Given the description of an element on the screen output the (x, y) to click on. 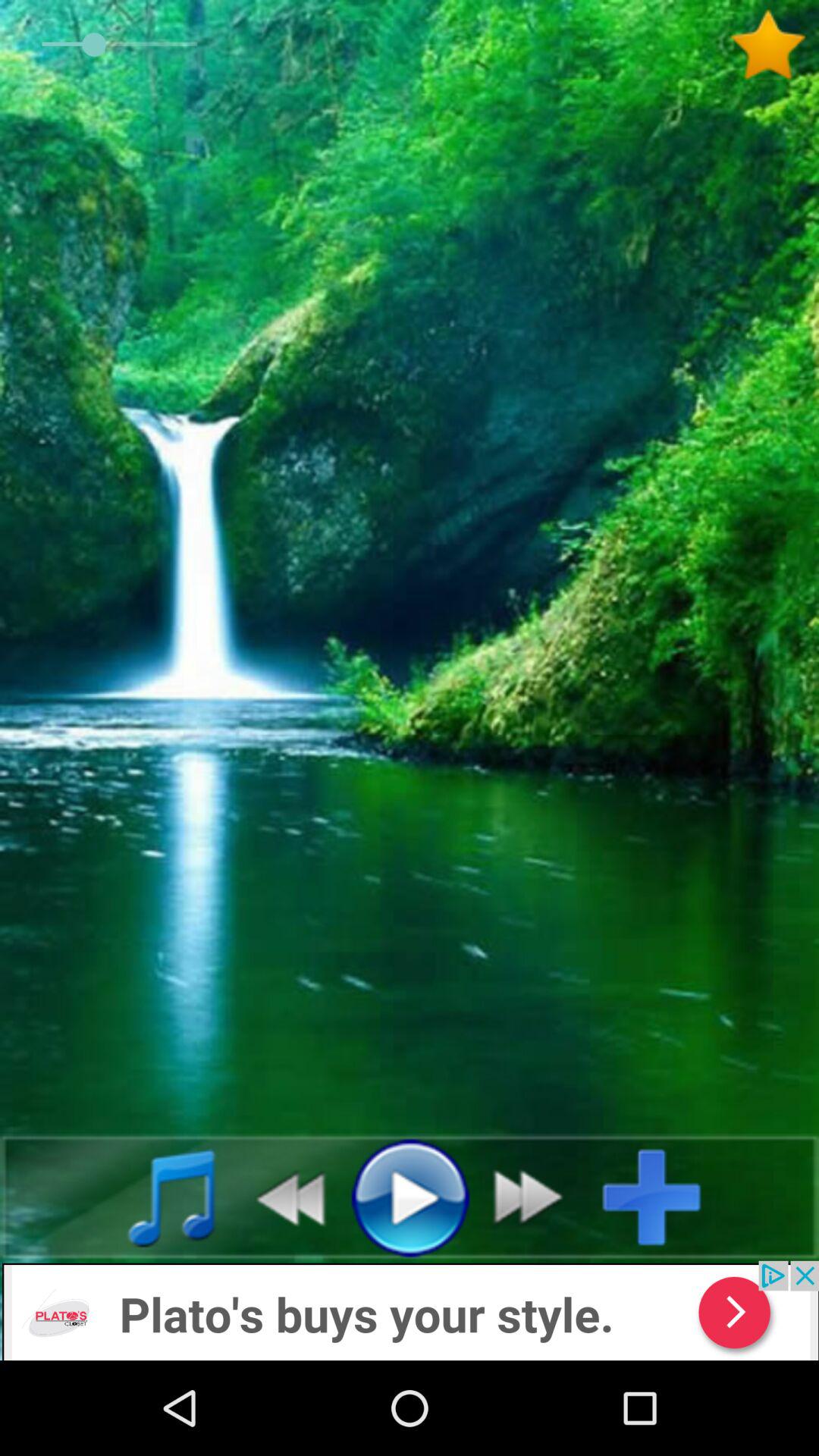
go back (281, 1196)
